Given the description of an element on the screen output the (x, y) to click on. 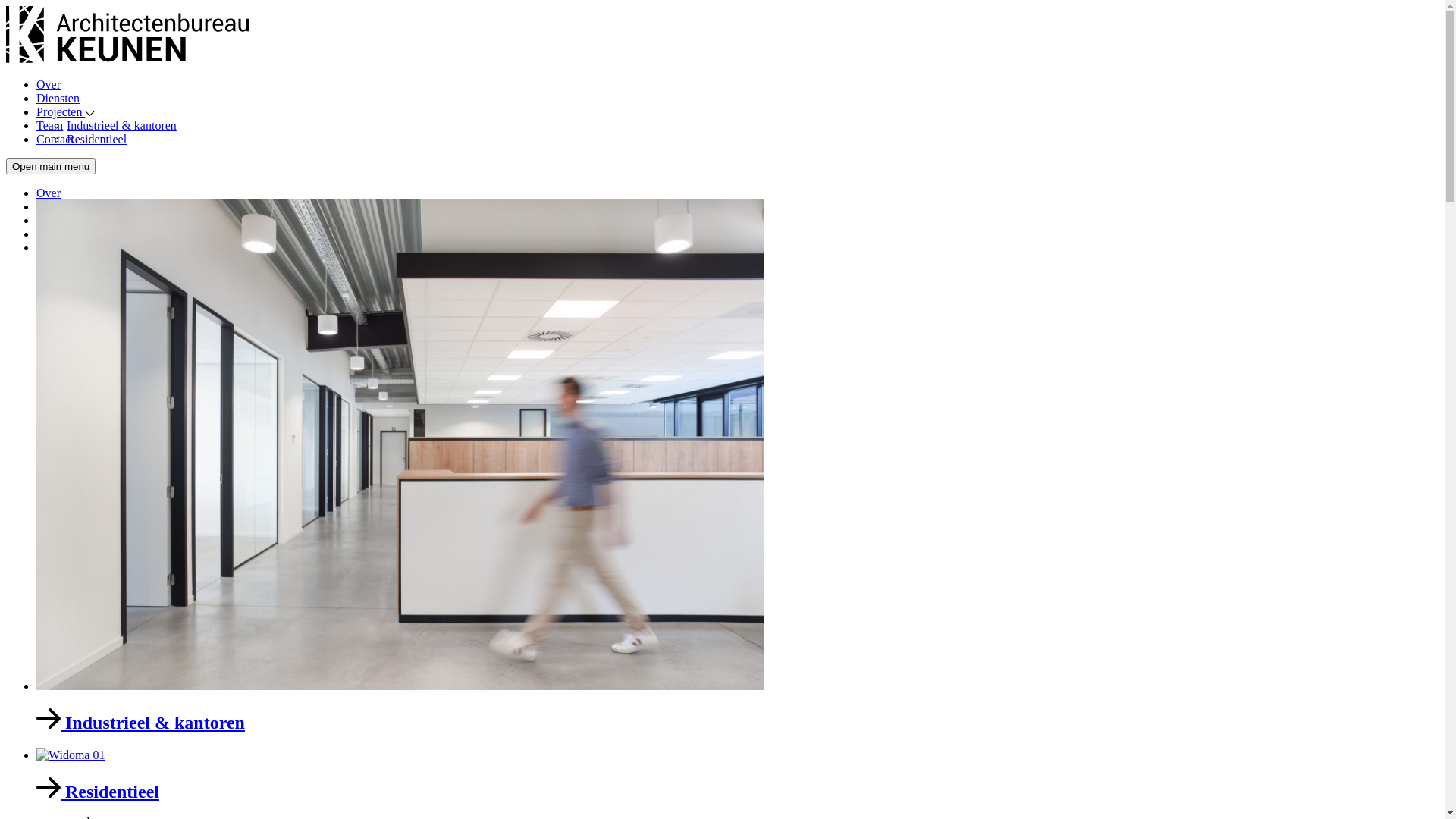
Residentieel Element type: text (96, 247)
Industrieel & kantoren Element type: text (737, 465)
Diensten Element type: text (57, 206)
Over Element type: text (48, 84)
Team Element type: text (49, 125)
Projecten Element type: text (65, 219)
Residentieel Element type: text (737, 775)
Open main menu Element type: text (50, 166)
Contact Element type: text (55, 138)
Projecten Element type: text (65, 111)
Diensten Element type: text (57, 97)
Residentieel Element type: text (96, 138)
Team Element type: text (49, 233)
Industrieel & kantoren Element type: text (121, 125)
Industrieel & kantoren Element type: text (121, 233)
Over Element type: text (48, 192)
Contact Element type: text (55, 247)
